Given the description of an element on the screen output the (x, y) to click on. 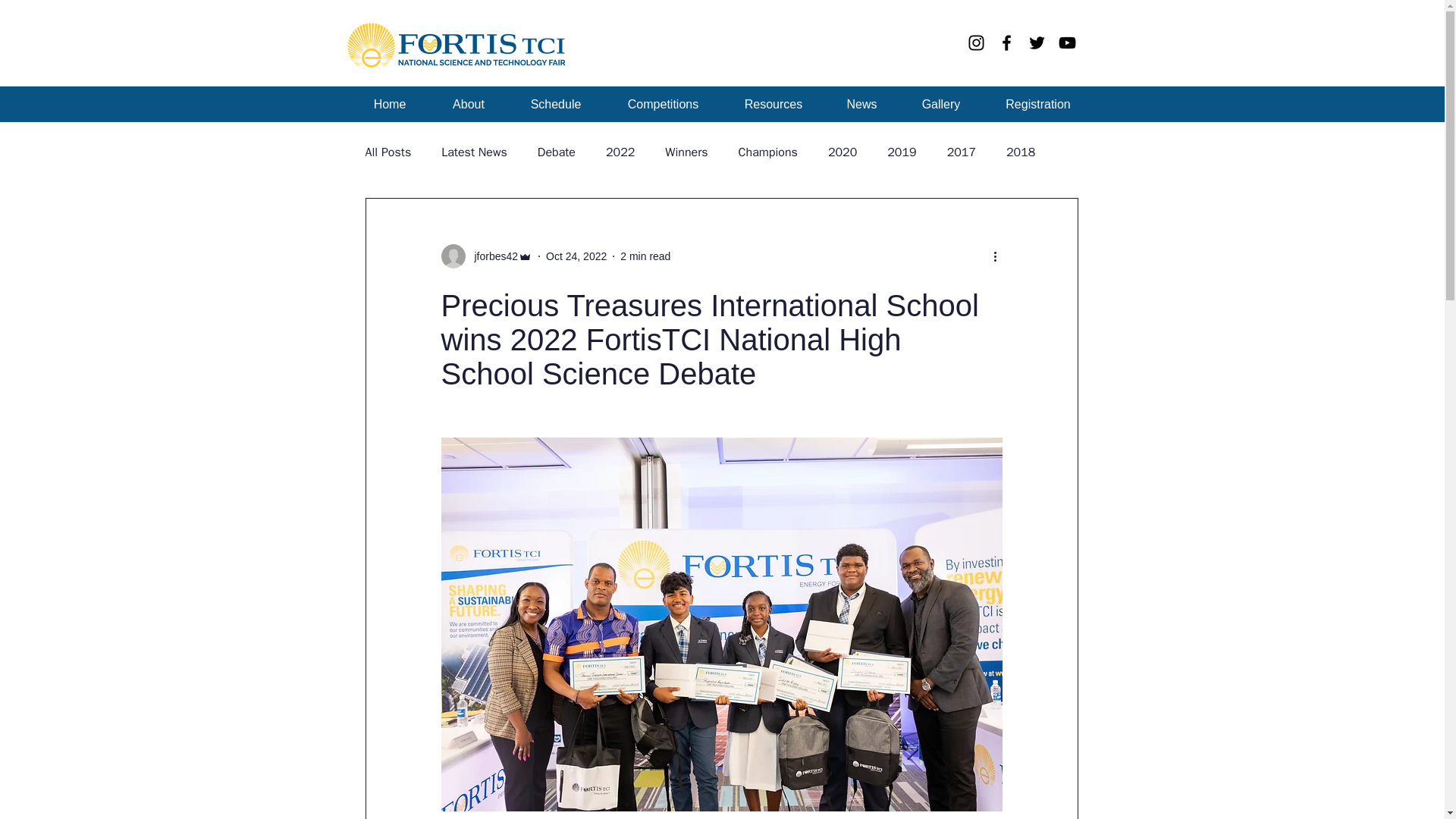
2017 (961, 151)
Home (389, 104)
Winners (686, 151)
jforbes42 (491, 256)
jforbes42 (486, 256)
2020 (842, 151)
Oct 24, 2022 (576, 256)
About (468, 104)
Registration (1038, 104)
Resources (773, 104)
